Given the description of an element on the screen output the (x, y) to click on. 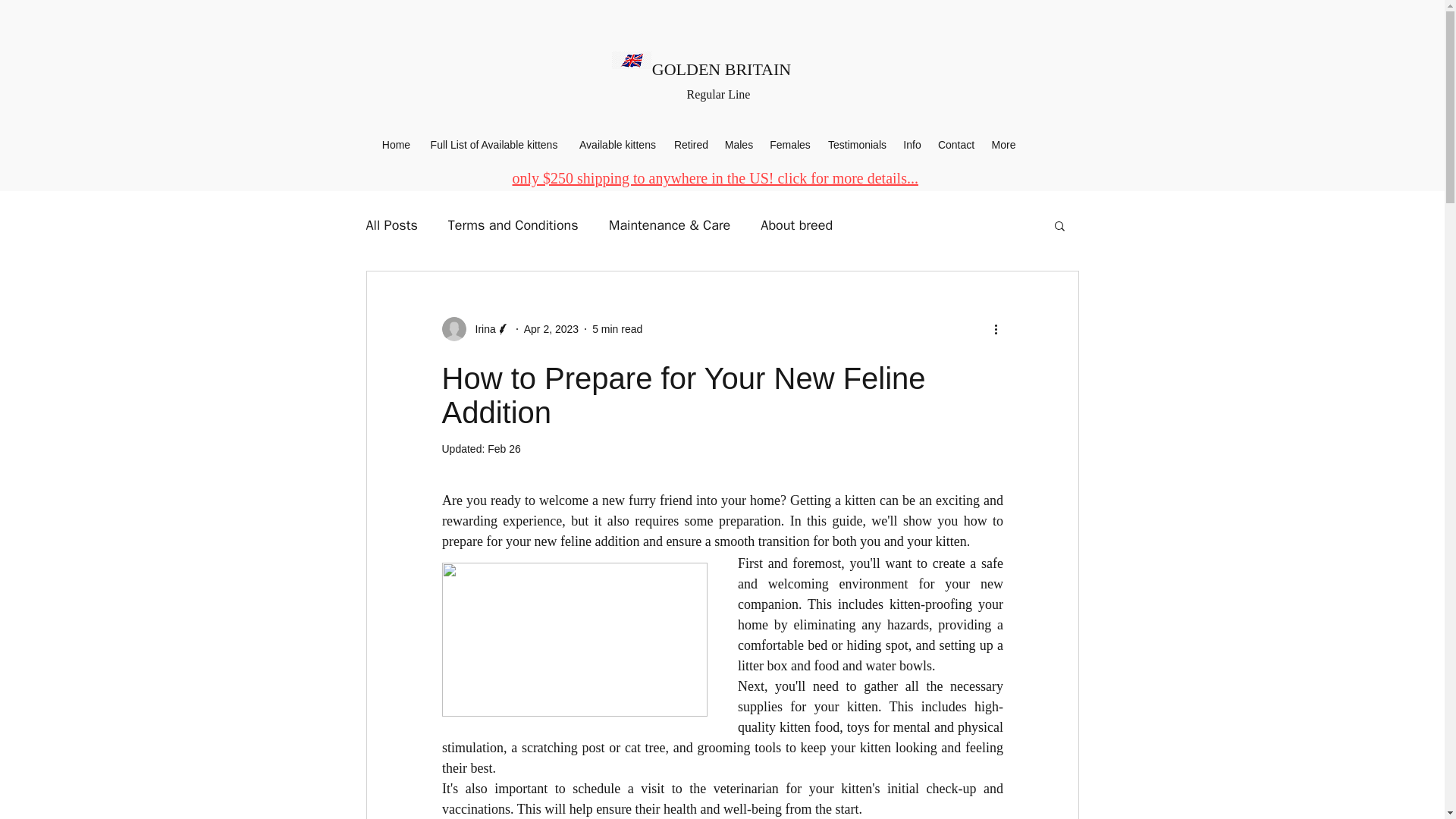
Females (789, 144)
Apr 2, 2023 (551, 328)
Home (396, 144)
Info (911, 144)
Irina (475, 328)
Contact (956, 144)
Full List of Available kittens (494, 144)
Feb 26 (504, 449)
Testimonials (856, 144)
Terms and Conditions (513, 225)
GOLDEN BRITAIN (721, 68)
Available kittens (617, 144)
About breed (796, 225)
5 min read (617, 328)
All Posts (390, 225)
